Given the description of an element on the screen output the (x, y) to click on. 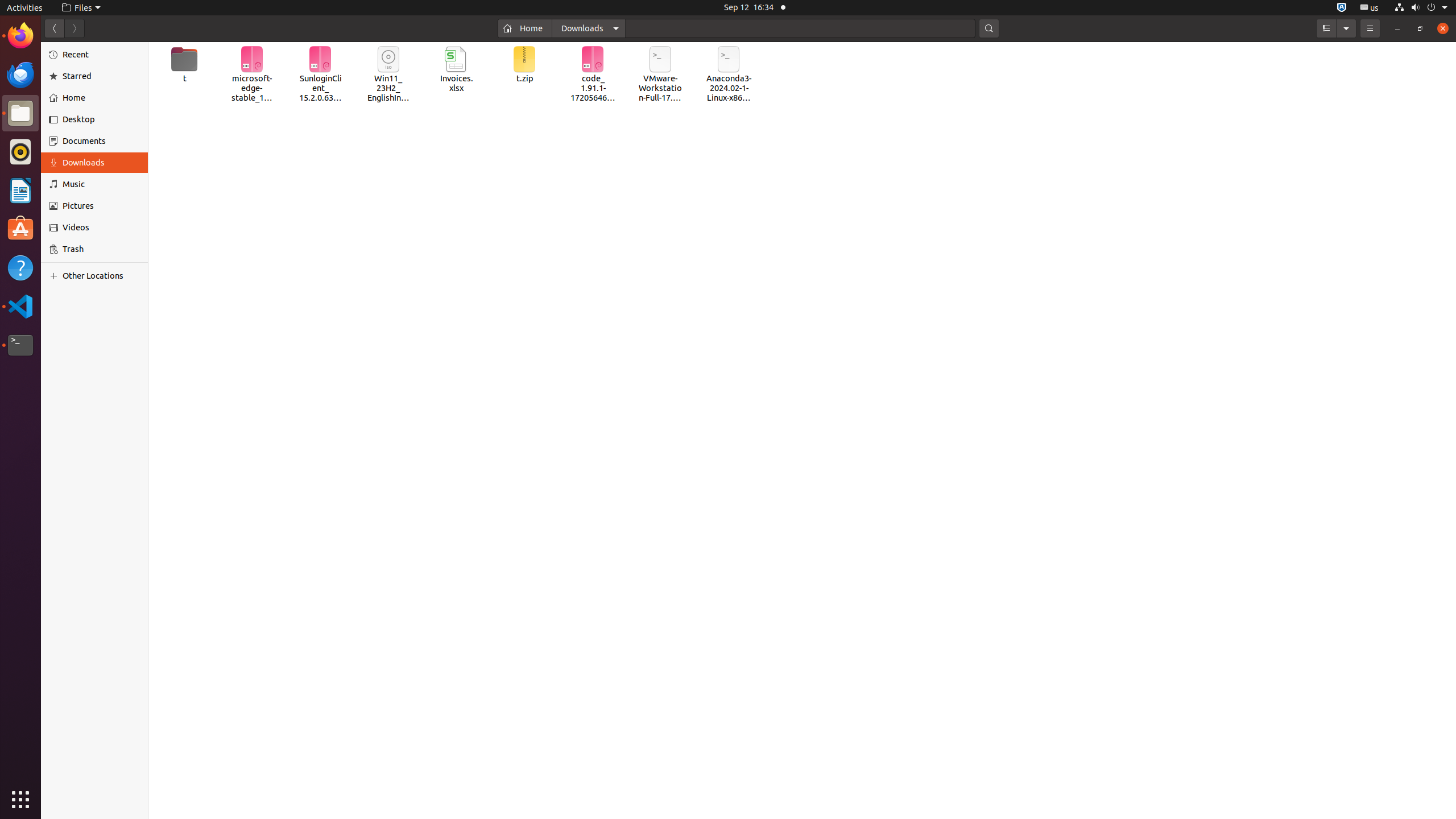
code_1.91.1-1720564633_amd64.deb Element type: canvas (592, 74)
Anaconda3-2024.02-1-Linux-x86_64.sh Element type: canvas (728, 74)
Home Element type: push-button (524, 28)
Close Element type: push-button (1442, 27)
